Given the description of an element on the screen output the (x, y) to click on. 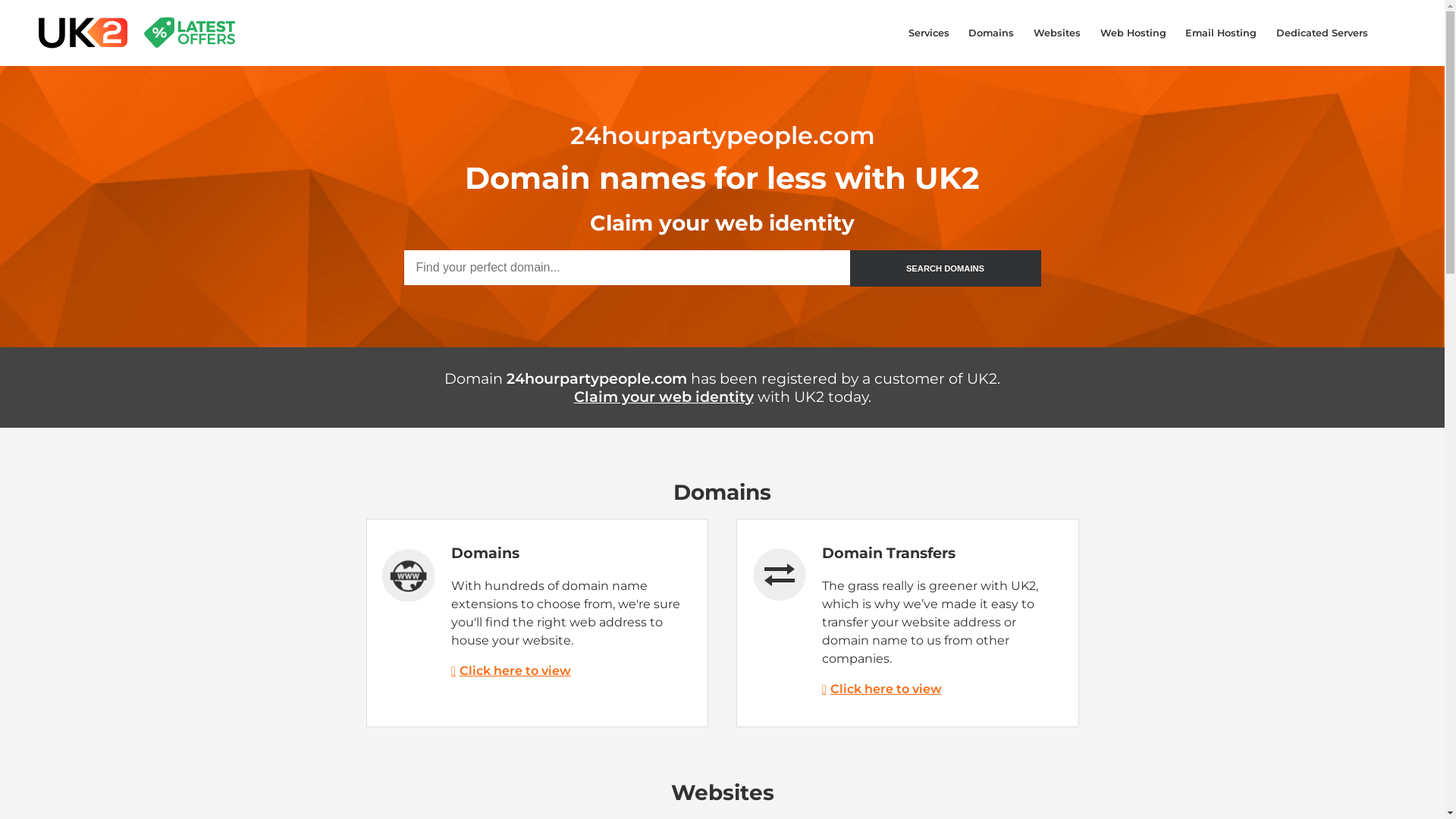
Services Element type: text (928, 32)
Websites Element type: text (1056, 32)
Dedicated Servers Element type: text (1321, 32)
Web Hosting Element type: text (1133, 32)
Click here to view Element type: text (881, 688)
Domains Element type: text (991, 32)
SEARCH DOMAINS Element type: text (944, 268)
Claim your web identity Element type: text (786, 405)
Click here to view Element type: text (511, 670)
Email Hosting Element type: text (1220, 32)
